Given the description of an element on the screen output the (x, y) to click on. 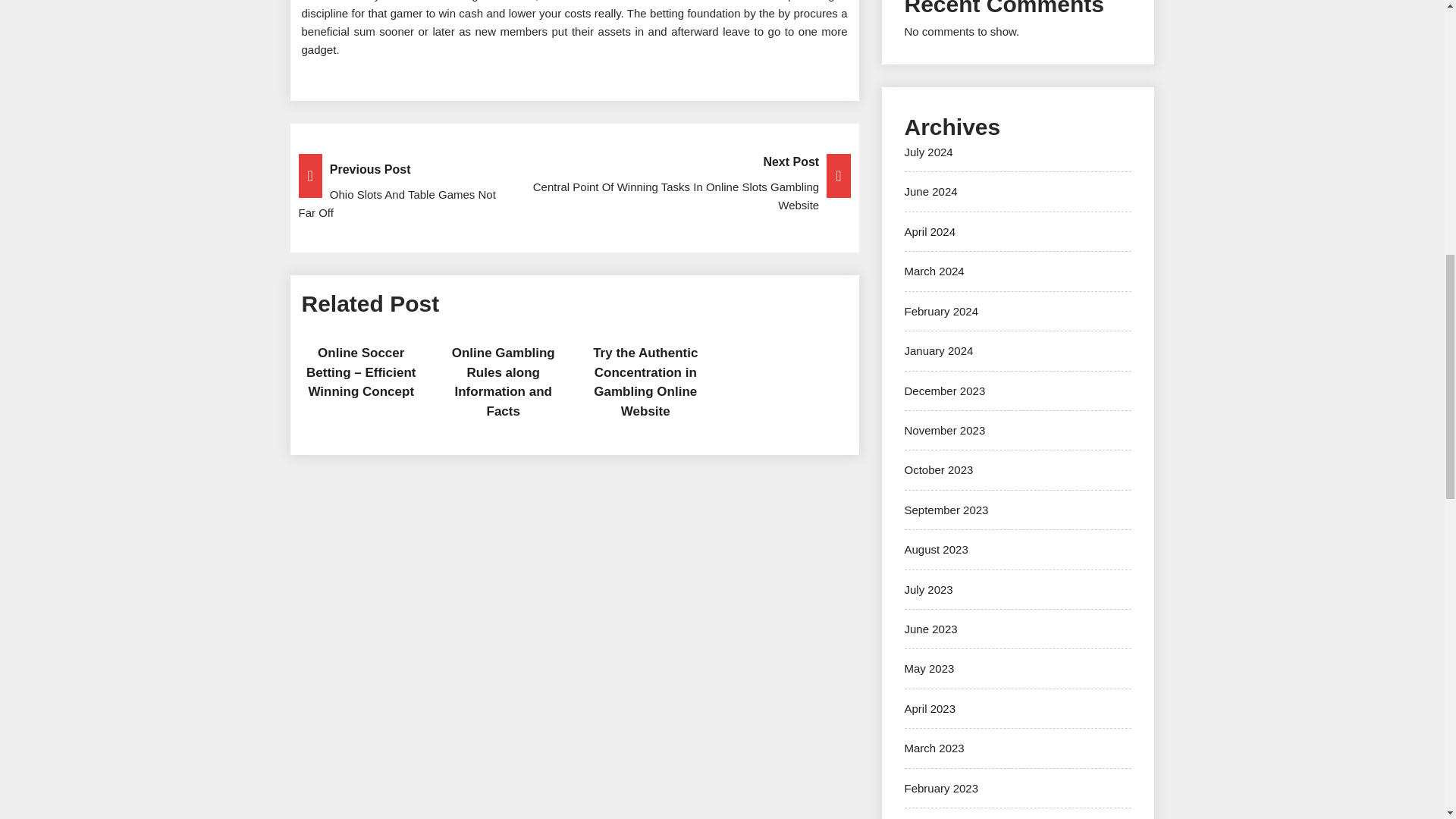
January 2024 (938, 350)
Try the Authentic Concentration in Gambling Online Website (644, 381)
September 2023 (946, 509)
November 2023 (944, 430)
June 2024 (930, 191)
December 2023 (944, 390)
May 2023 (928, 667)
April 2024 (929, 231)
February 2023 (941, 788)
March 2023 (933, 748)
June 2023 (930, 628)
August 2023 (936, 549)
March 2024 (933, 270)
July 2023 (928, 589)
April 2023 (929, 707)
